Given the description of an element on the screen output the (x, y) to click on. 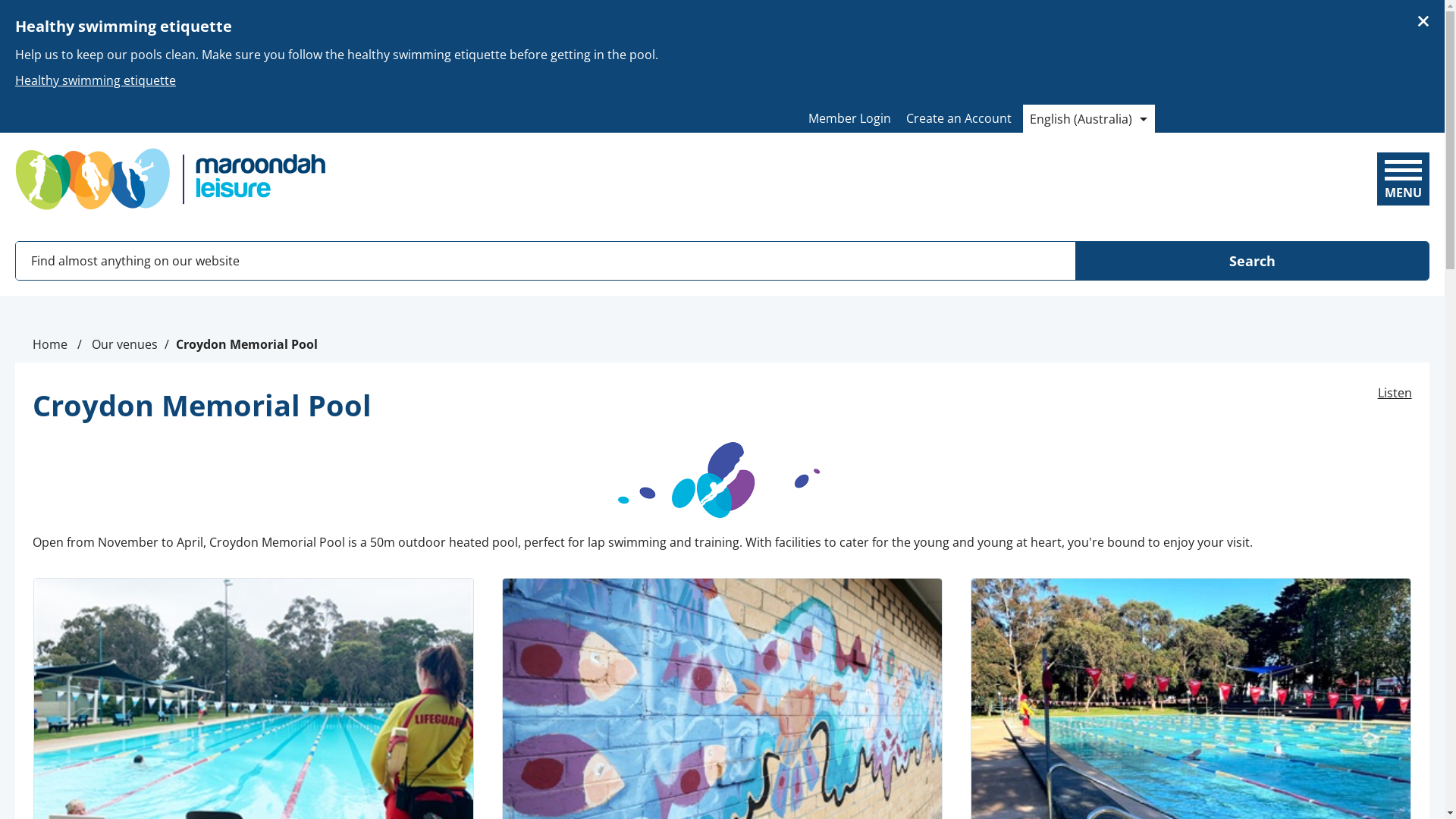
Create an Account Element type: text (957, 117)
Home Element type: text (49, 343)
Your current preferred language is
English (Australia) Element type: text (1088, 118)
Listen Element type: text (1394, 392)
Search Element type: text (1251, 260)
Healthy swimming etiquette Element type: text (722, 76)
MENU Element type: text (1402, 173)
Our venues Element type: text (124, 343)
Home - Maroondah City Council - Logo Element type: text (170, 178)
Member Login Element type: text (849, 117)
Close this announcement Element type: text (1425, 16)
